Given the description of an element on the screen output the (x, y) to click on. 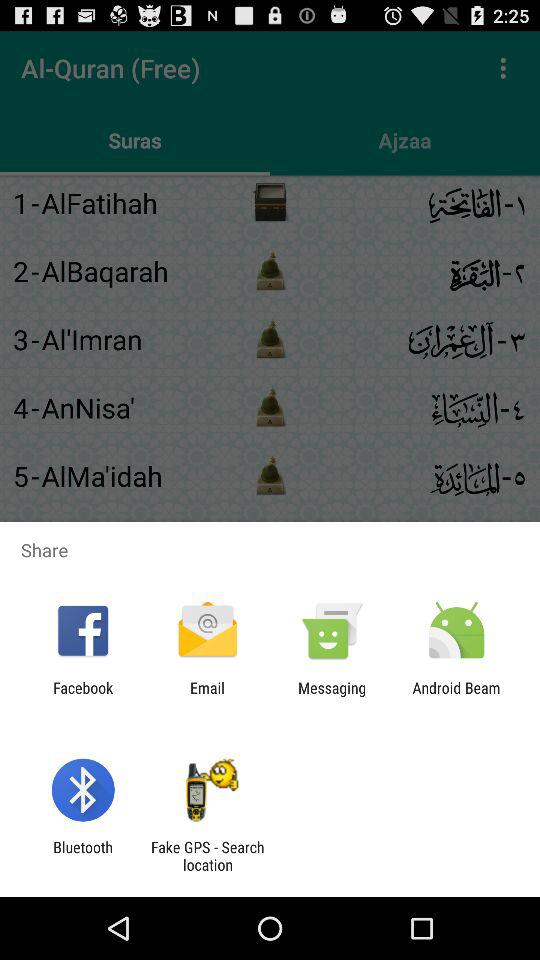
turn on app next to bluetooth app (207, 856)
